Given the description of an element on the screen output the (x, y) to click on. 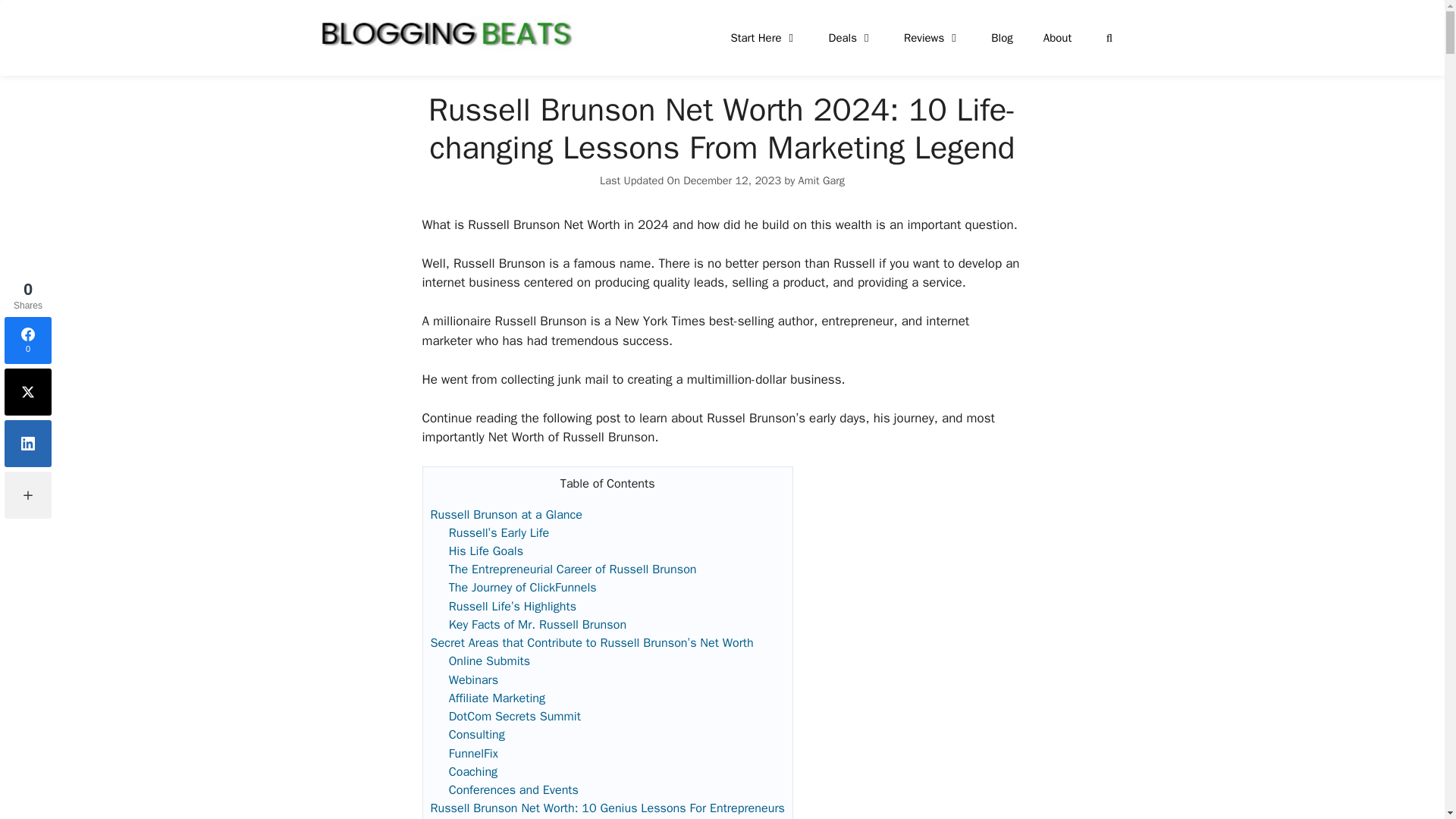
About (1056, 37)
Deals (850, 37)
Start Here (763, 37)
BloggingBeats (445, 33)
BloggingBeats (445, 32)
Blog (1001, 37)
Reviews (931, 37)
View all posts by Amit Garg (820, 180)
